Given the description of an element on the screen output the (x, y) to click on. 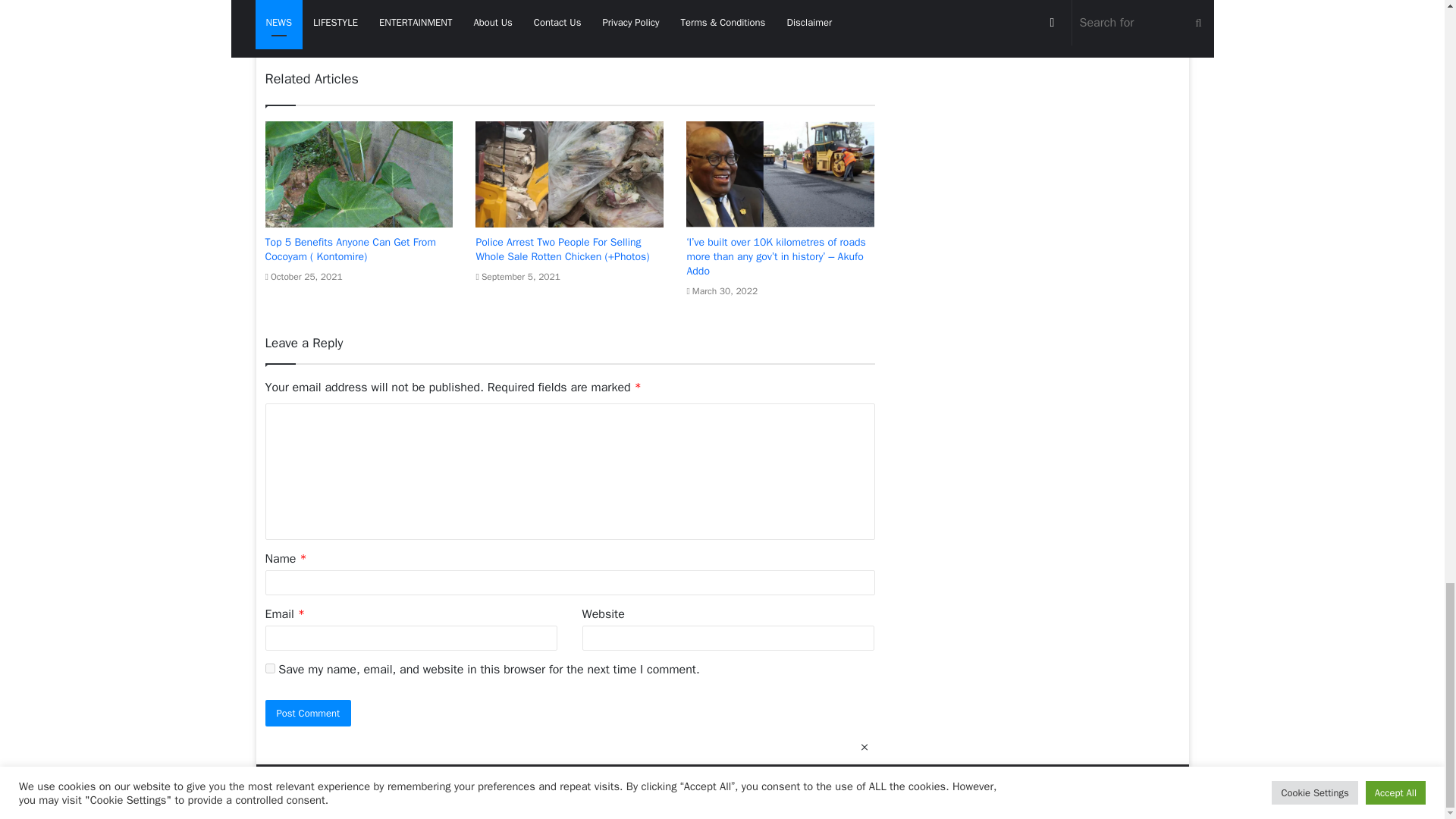
yes (269, 668)
Post Comment (308, 713)
